Given the description of an element on the screen output the (x, y) to click on. 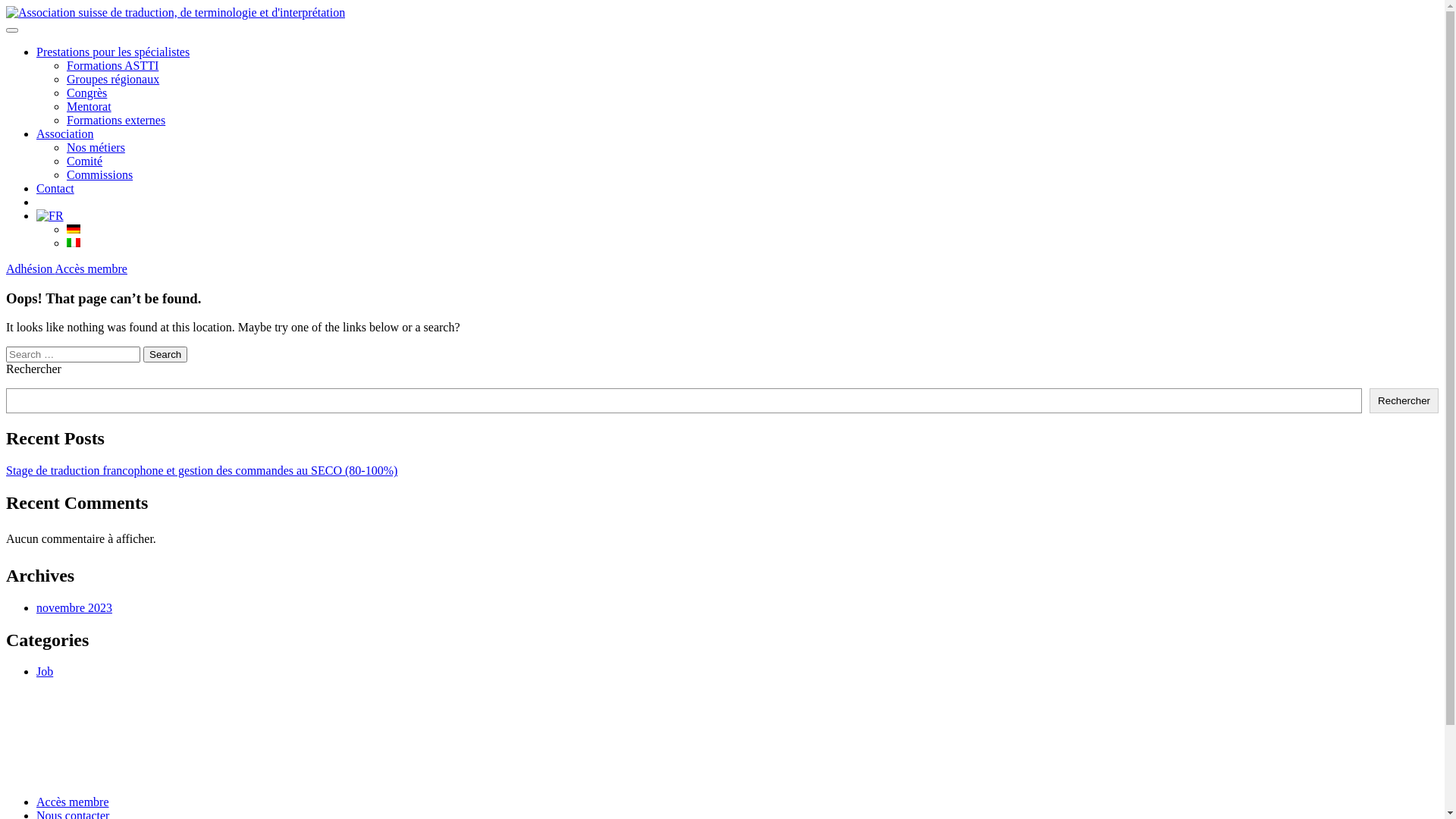
Search Element type: text (165, 354)
Rechercher Element type: text (1403, 400)

             Element type: hover (49, 215)
Commissions Element type: text (99, 174)
Search for: Element type: hover (73, 354)
Formations externes Element type: text (115, 119)
Job Element type: text (44, 671)
Formations ASTTI Element type: text (112, 65)

             Element type: hover (73, 242)
Skip to content Element type: text (5, 5)
Association Element type: text (65, 133)
Mentorat Element type: text (88, 106)
Contact Element type: text (55, 188)
novembre 2023 Element type: text (74, 607)

             Element type: hover (73, 228)
